Given the description of an element on the screen output the (x, y) to click on. 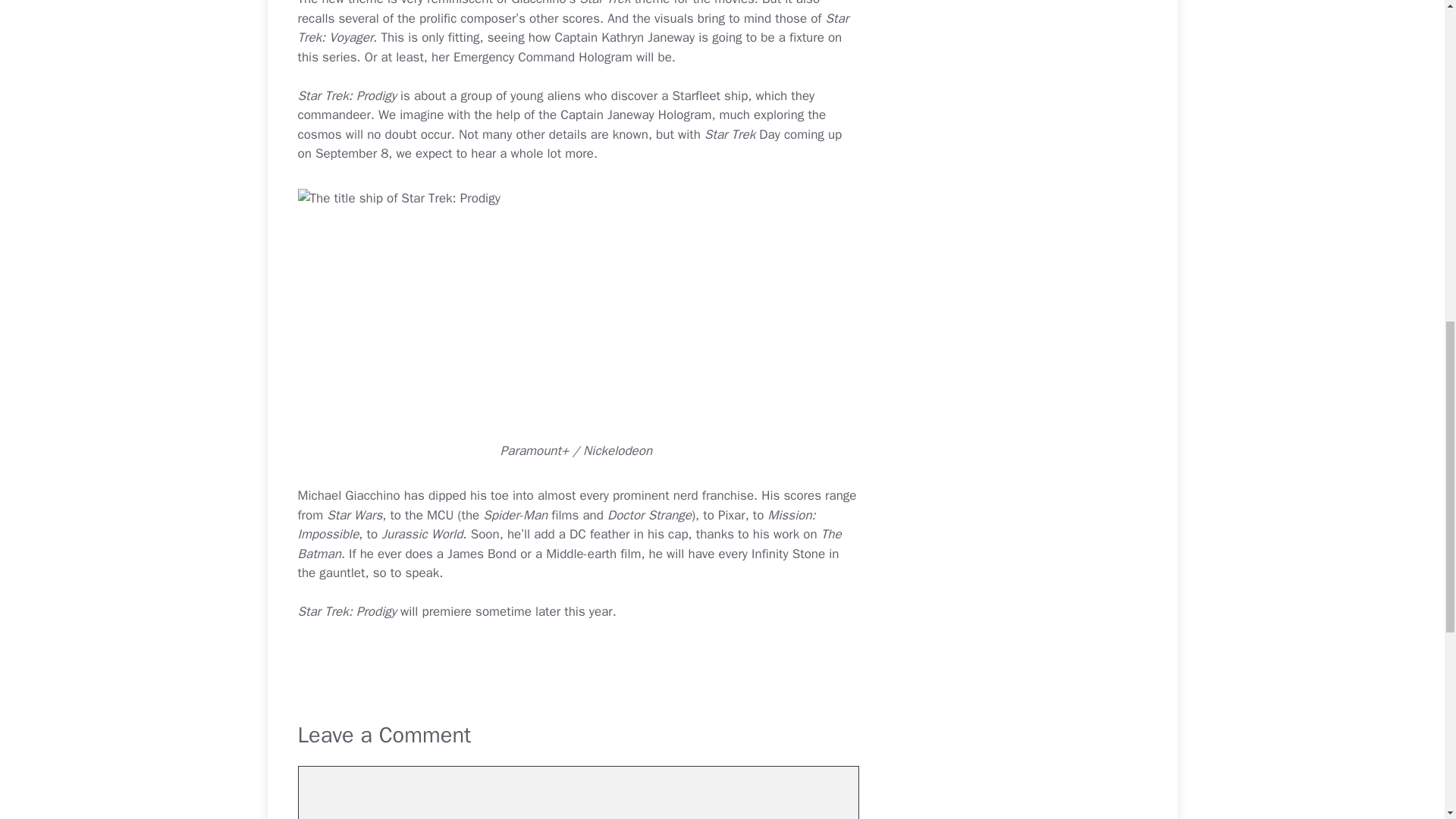
The Box Lunch Star Wars Collection (353, 514)
Spider-Man (515, 514)
Star Wars (353, 514)
Star Trek Day (742, 134)
Batman Comics (318, 553)
Batman (318, 553)
Box Lunch - Spider-Man Collection (515, 514)
Scroll back to top (1406, 720)
